Given the description of an element on the screen output the (x, y) to click on. 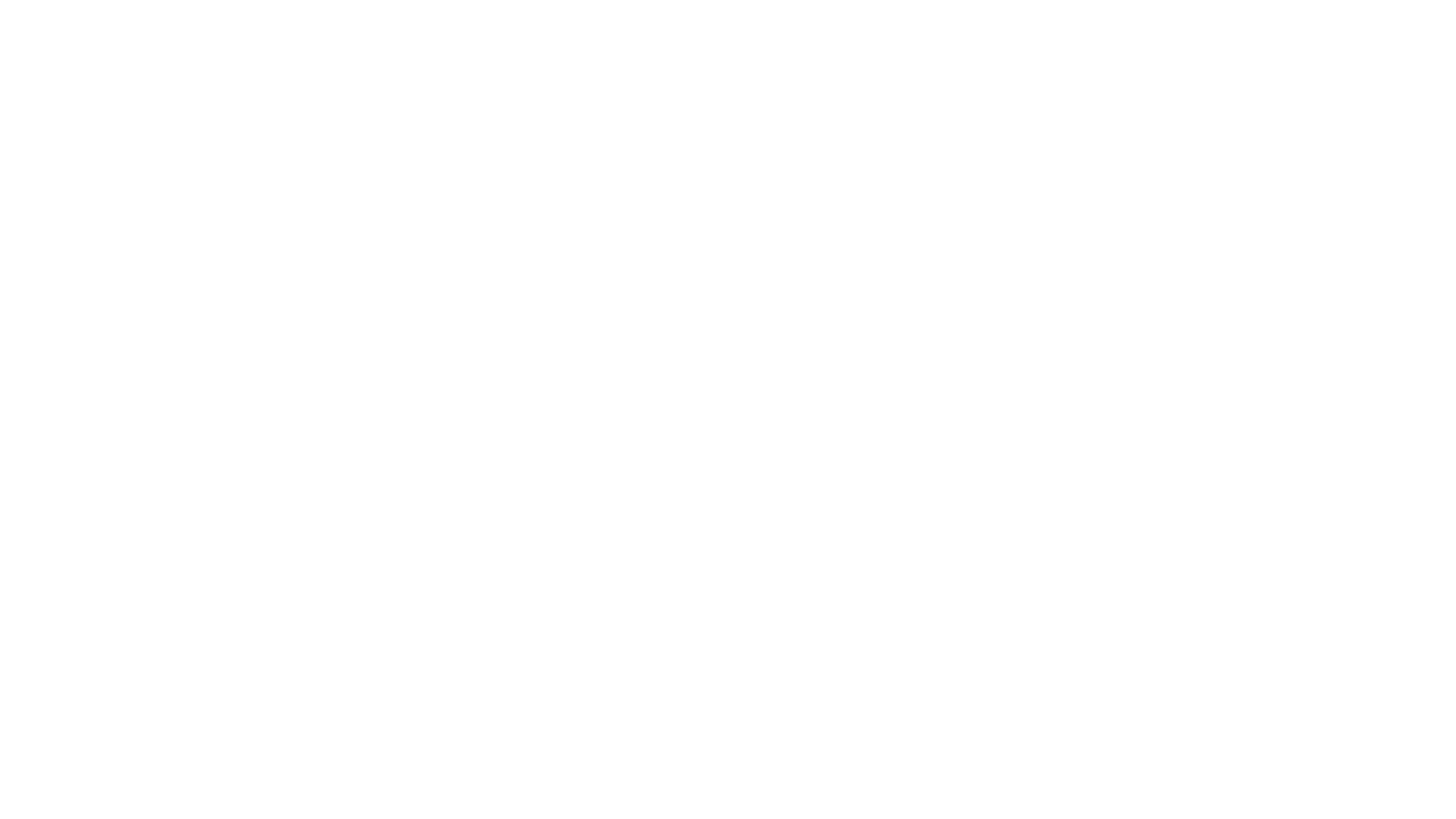
Skip to content Element type: text (5, 14)
247's Element type: text (81, 166)
